Given the description of an element on the screen output the (x, y) to click on. 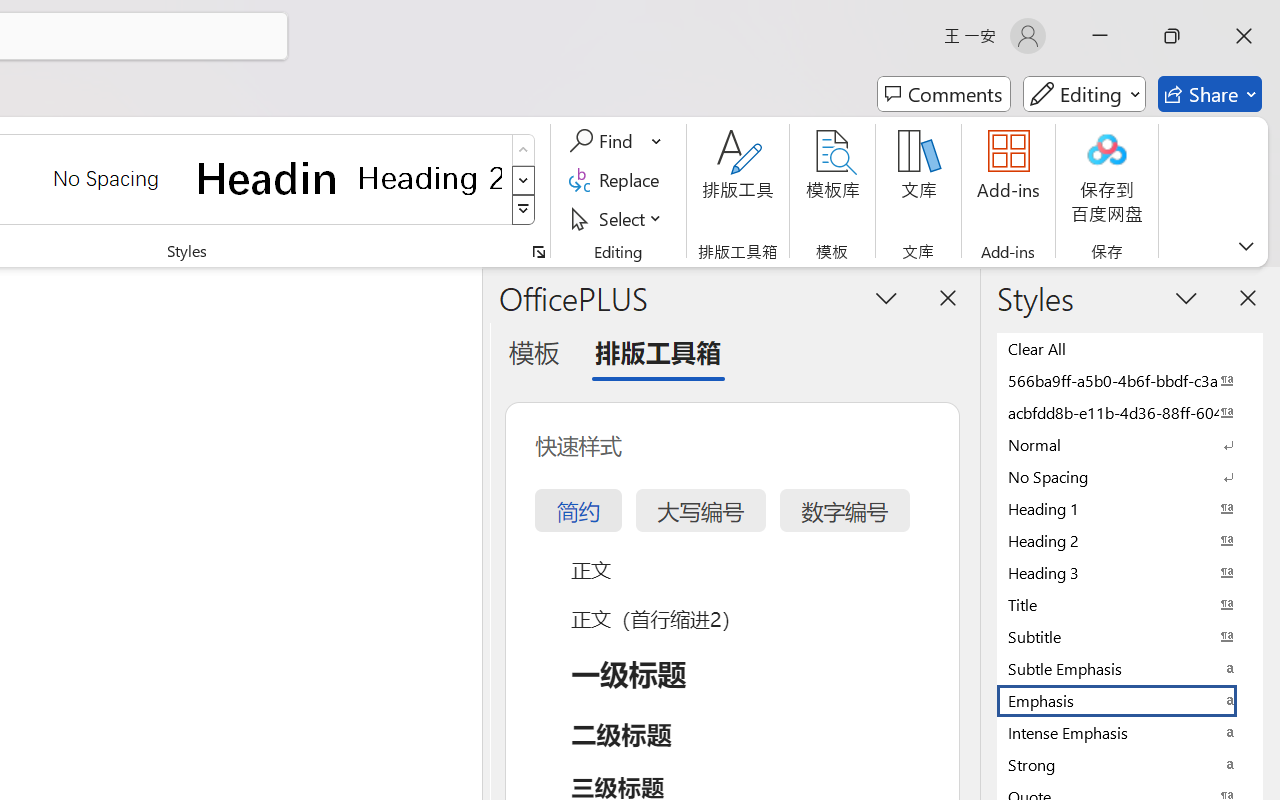
Share (1210, 94)
Select (618, 218)
Comments (943, 94)
